Given the description of an element on the screen output the (x, y) to click on. 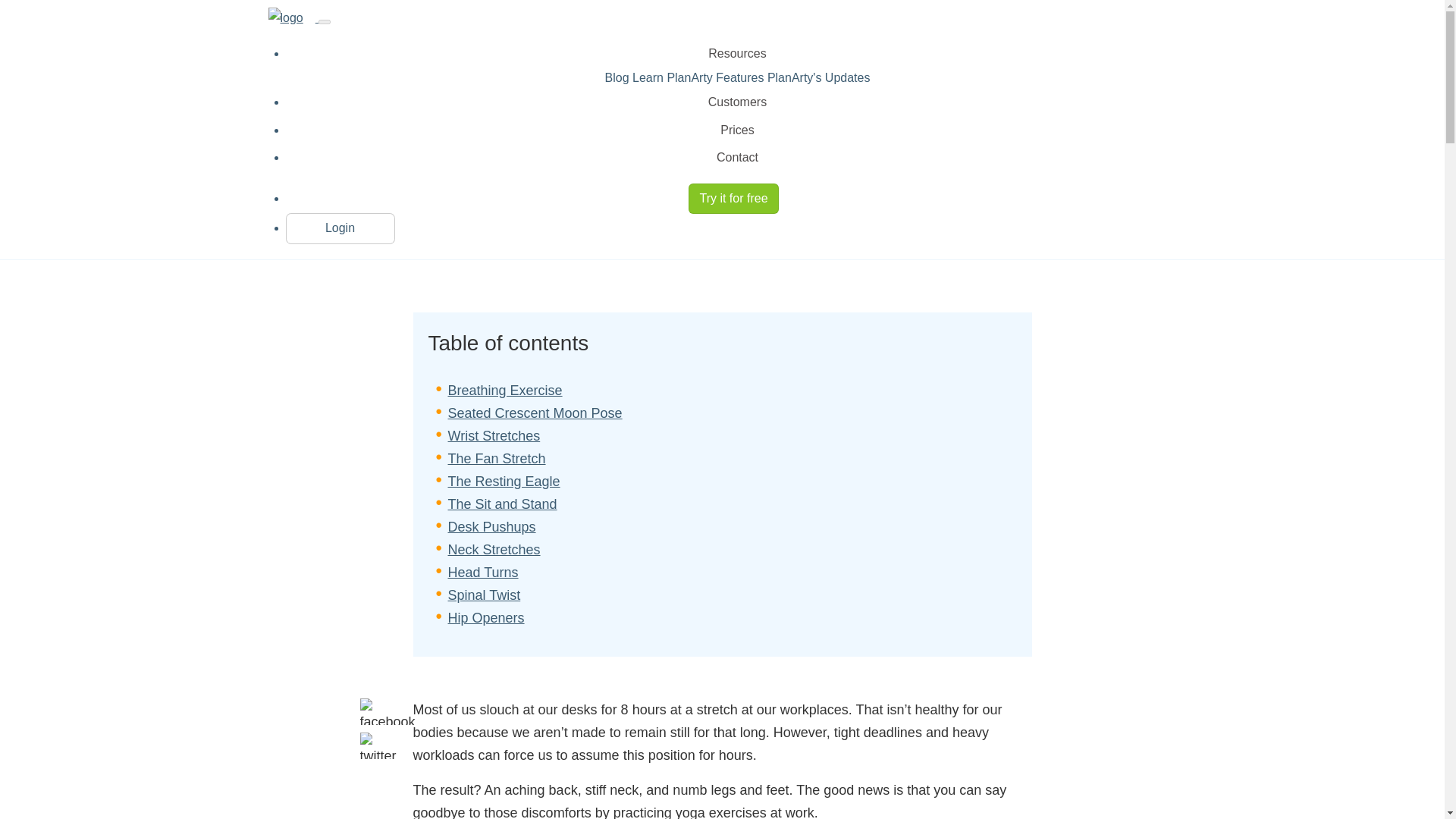
Learn PlanArty (673, 77)
navigation toggler (324, 21)
Wrist Stretches (493, 435)
Blog (618, 77)
Seated Crescent Moon Pose (533, 412)
Customers (737, 101)
The Fan Stretch (495, 458)
The Resting Eagle (502, 481)
Breathing Exercise (504, 390)
Head Turns (482, 572)
Try it for free (733, 198)
Desk Pushups (490, 526)
Resources (737, 53)
Neck Stretches (493, 549)
Features (741, 77)
